Given the description of an element on the screen output the (x, y) to click on. 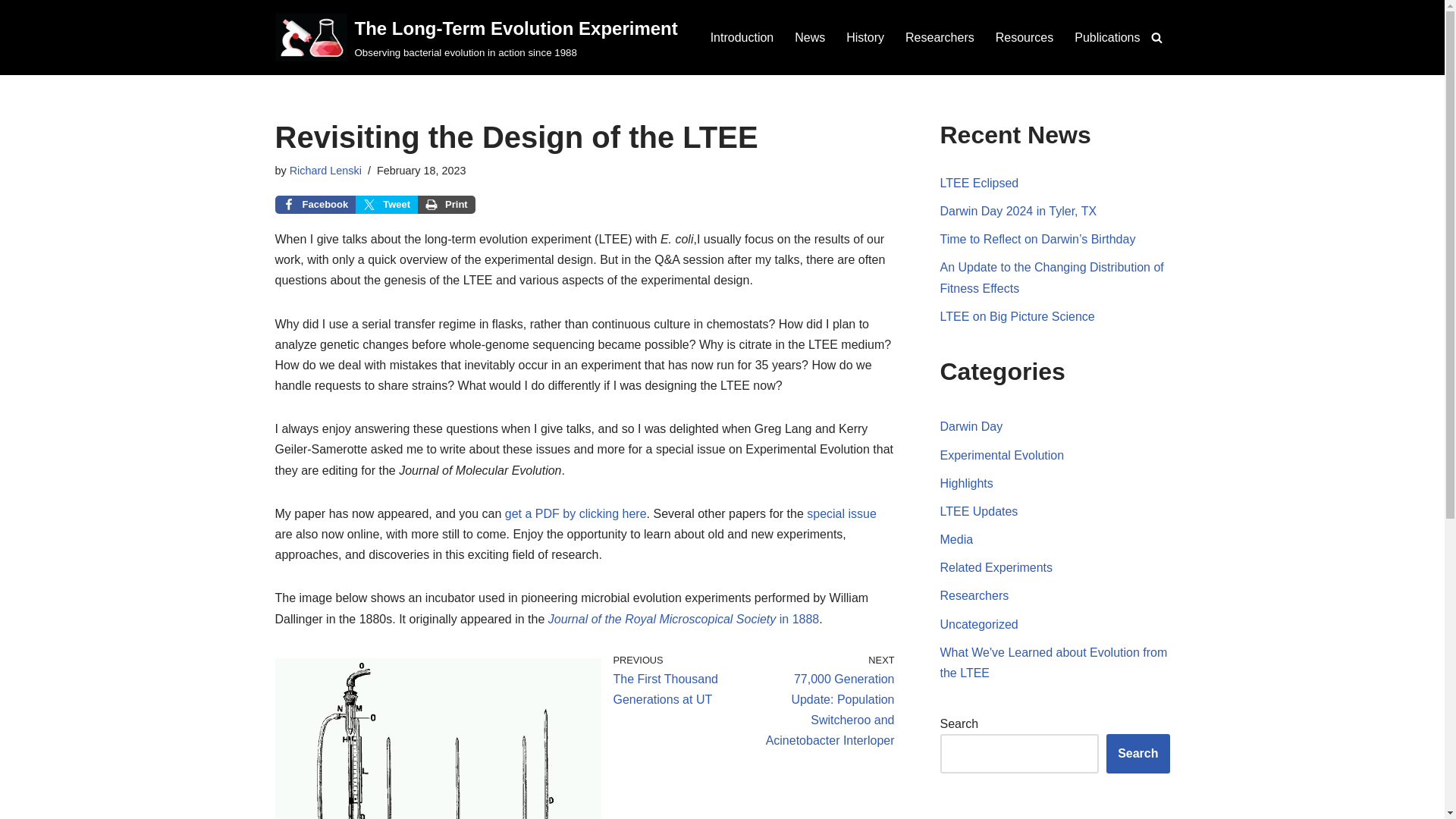
Darwin Day (971, 426)
Print (446, 204)
Resources (1023, 37)
Print this Page (446, 204)
Publications (1107, 37)
An Update to the Changing Distribution of Fitness Effects (1051, 277)
History (864, 37)
special issue (841, 513)
News (809, 37)
Journal of the Royal Microscopical Society in 1888 (683, 618)
Share on Facebook (315, 204)
Share on Twitter (386, 204)
LTEE Eclipsed (979, 182)
Introduction (742, 37)
